Given the description of an element on the screen output the (x, y) to click on. 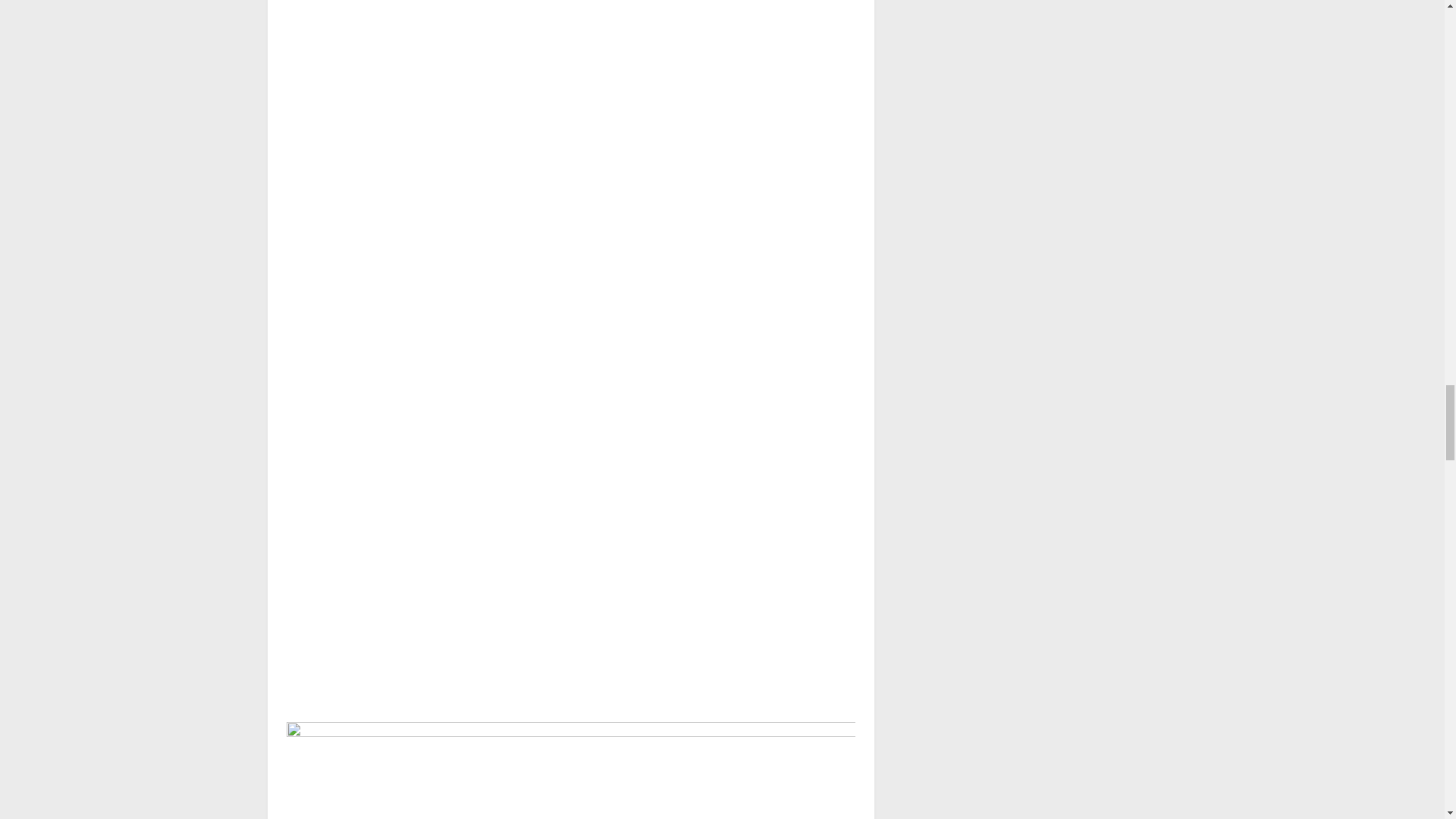
Michelle-4W2F-CommandCentral (571, 768)
